Given the description of an element on the screen output the (x, y) to click on. 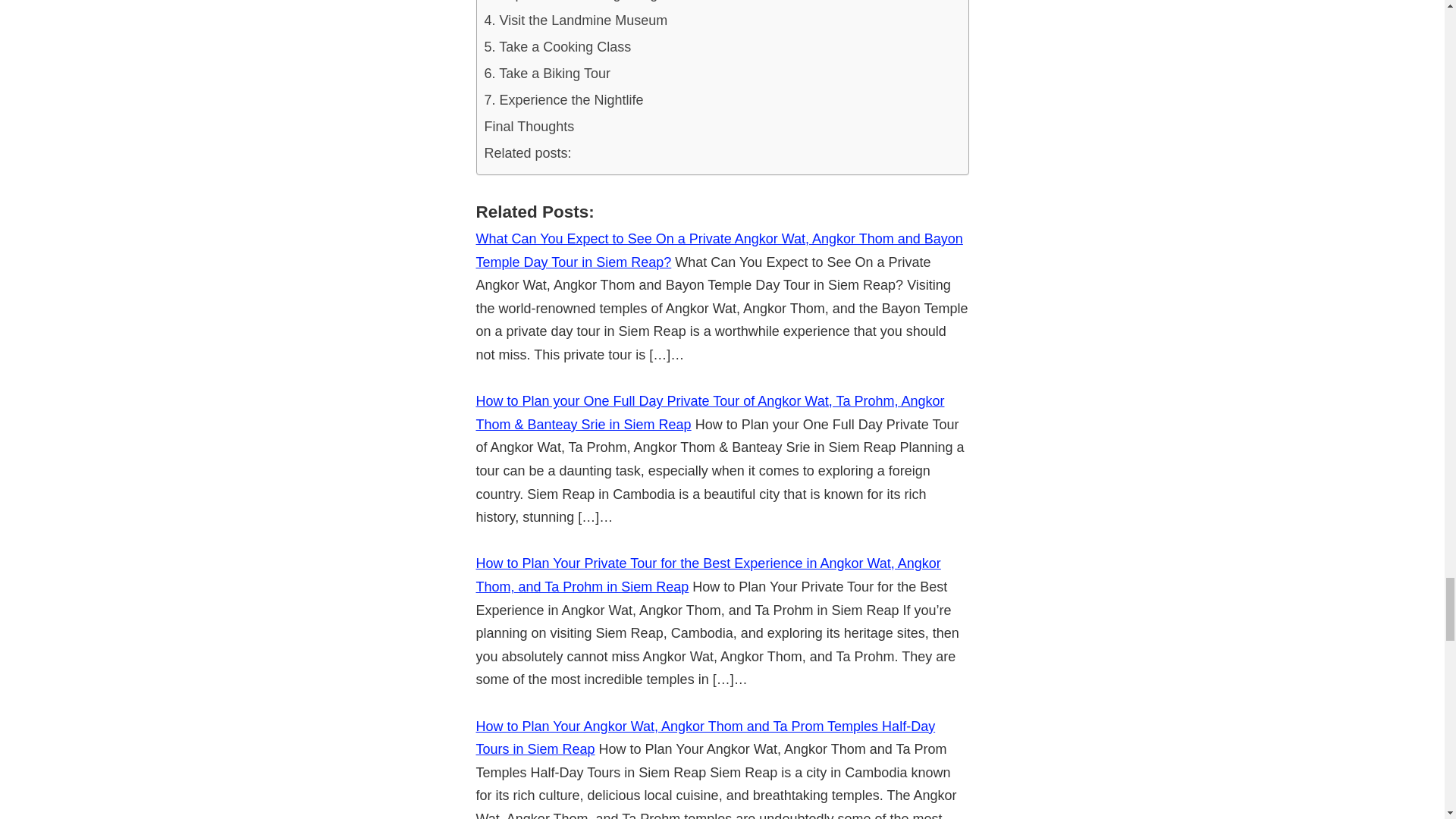
6. Take a Biking Tour (546, 73)
Final Thoughts (528, 126)
Related posts: (526, 153)
5. Take a Cooking Class (556, 47)
7. Experience the Nightlife (563, 99)
4. Visit the Landmine Museum (574, 20)
3. Explore the Floating Villages (577, 3)
